Given the description of an element on the screen output the (x, y) to click on. 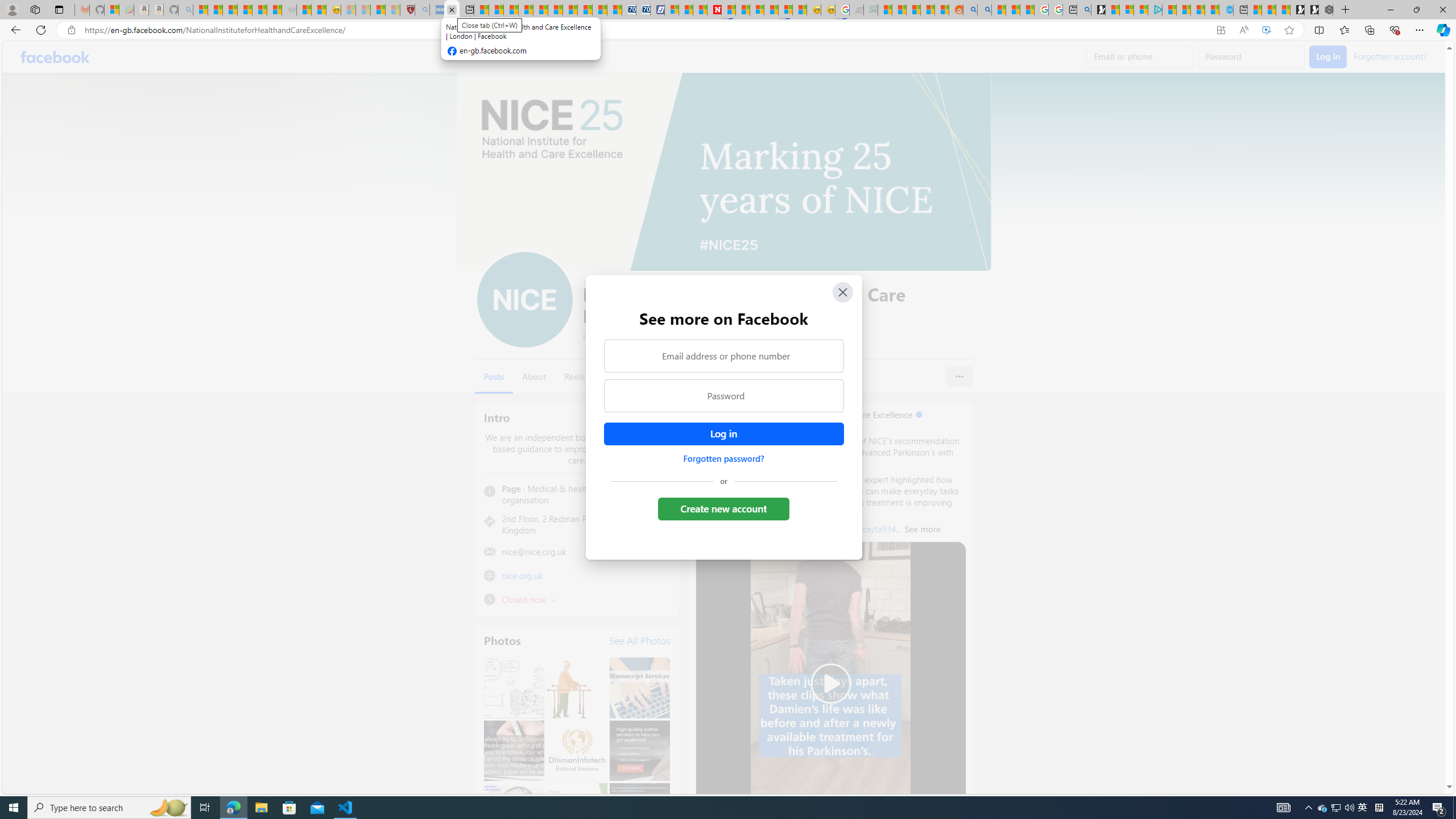
MSNBC - MSN (884, 9)
Forgotten account? (1390, 55)
Home | Sky Blue Bikes - Sky Blue Bikes (1225, 9)
